Given the description of an element on the screen output the (x, y) to click on. 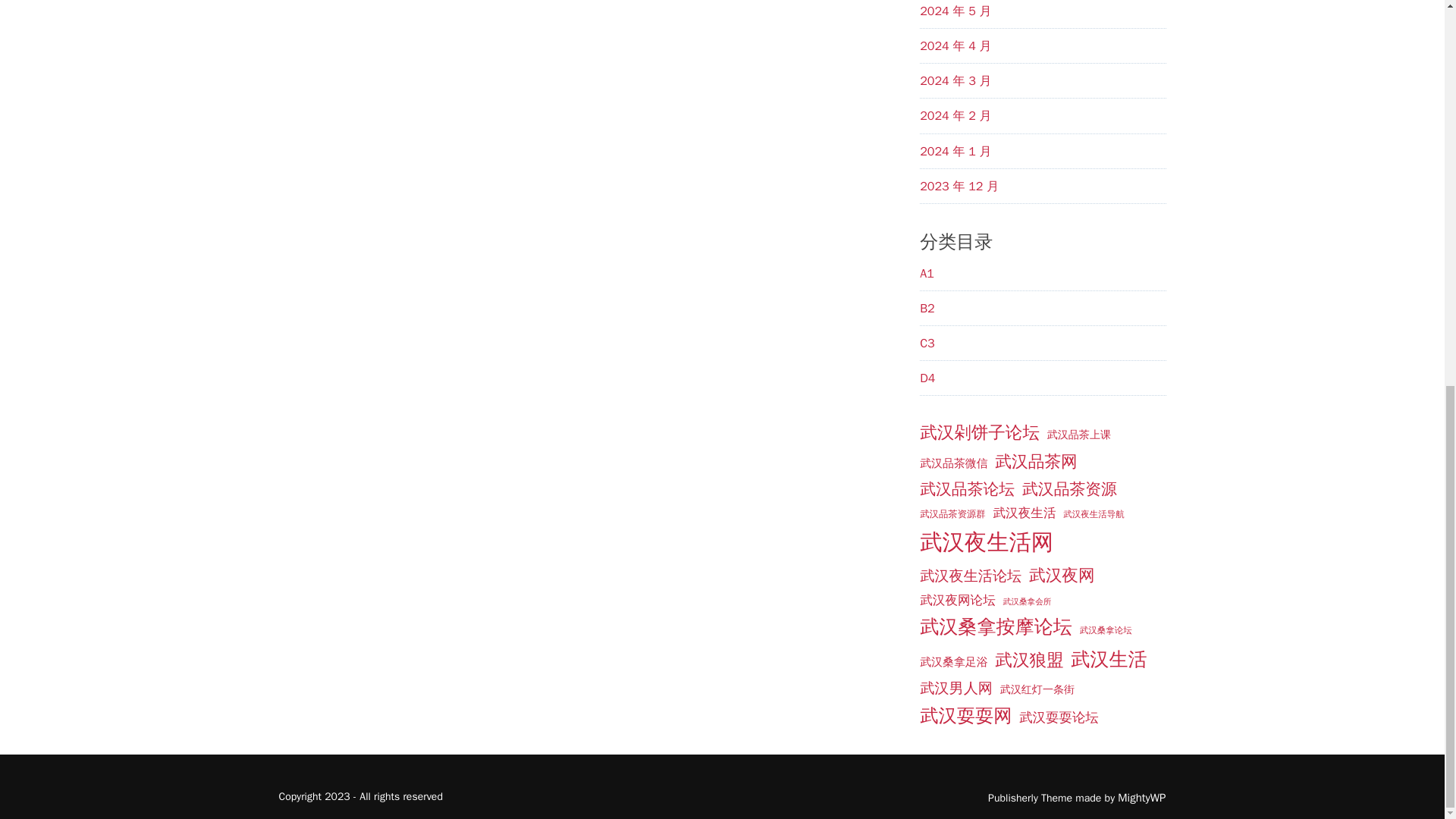
B2 (927, 308)
D4 (927, 378)
C3 (927, 343)
A1 (927, 273)
